Given the description of an element on the screen output the (x, y) to click on. 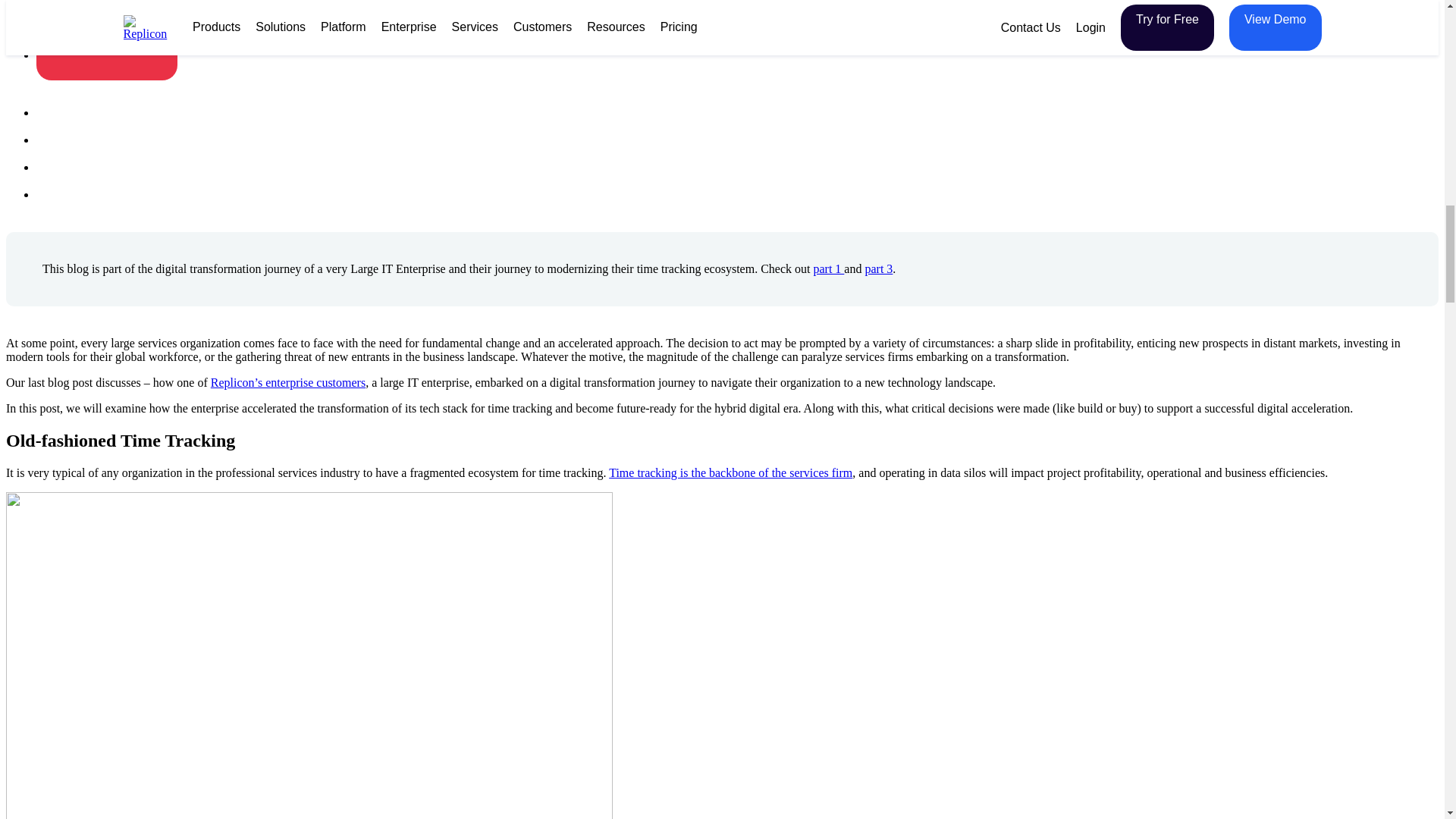
pintrest (48, 194)
Twitter (48, 139)
Share on Pinterest (106, 49)
Share on LinkedIn (106, 9)
LinkedIn (48, 166)
Facebook (48, 112)
